Given the description of an element on the screen output the (x, y) to click on. 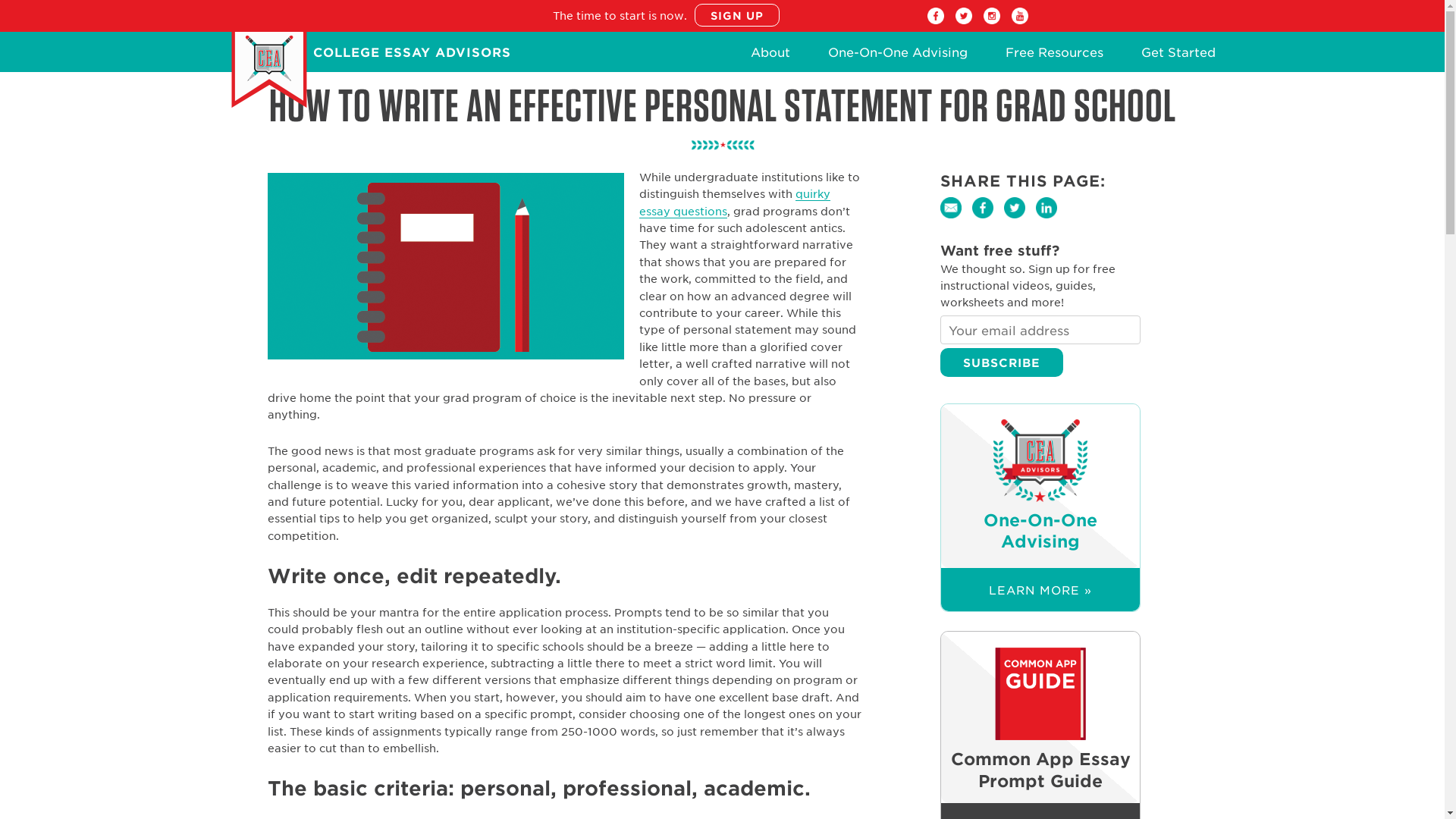
Sign Up (736, 15)
quirky essay questions (734, 202)
Get Started (1177, 56)
COLLEGE ESSAY ADVISORS (412, 52)
About (770, 56)
Subscribe (1001, 362)
One-On-One Advising (898, 56)
Free Resources (1054, 56)
